Given the description of an element on the screen output the (x, y) to click on. 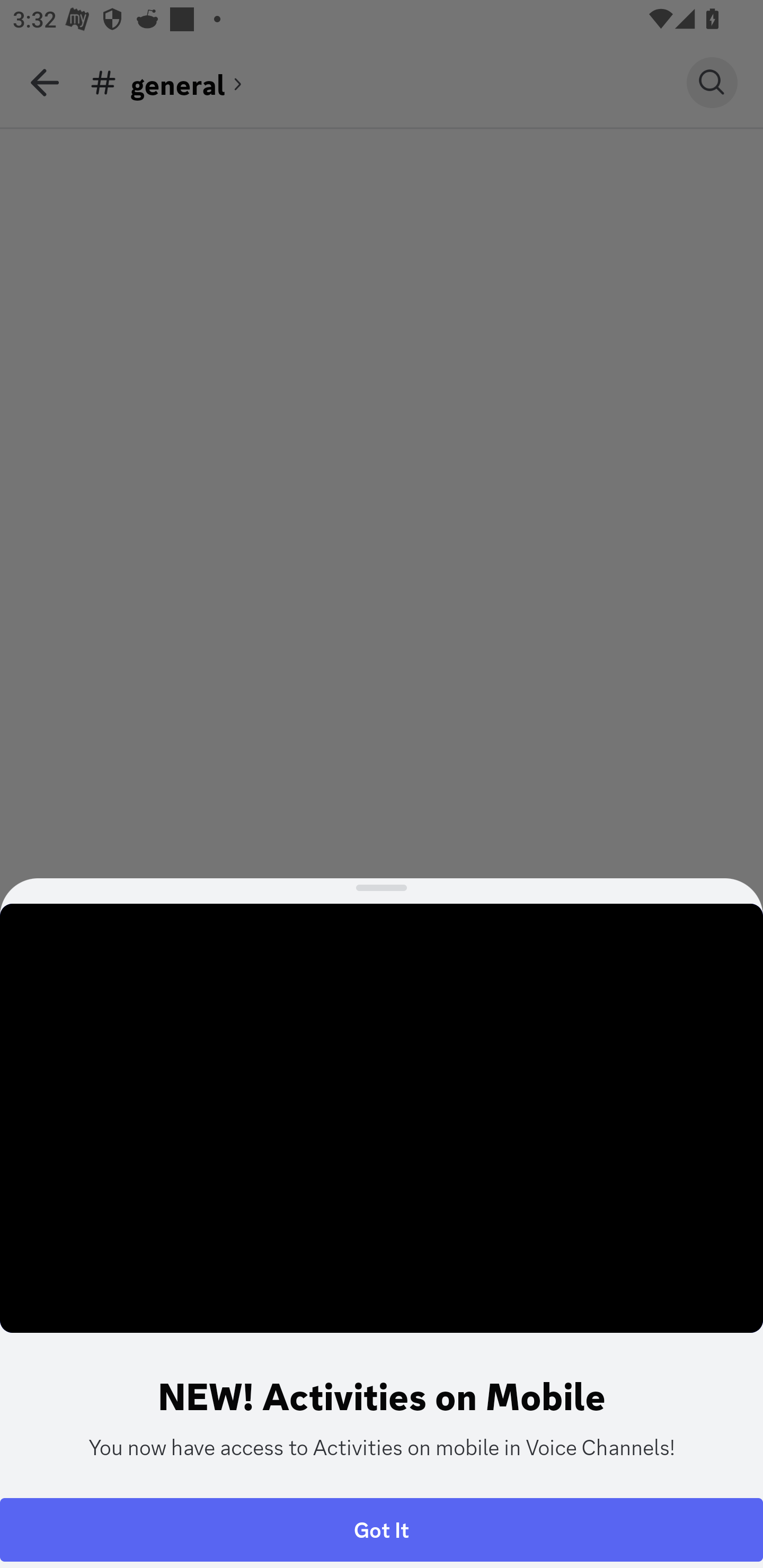
Got It (381, 1529)
